Given the description of an element on the screen output the (x, y) to click on. 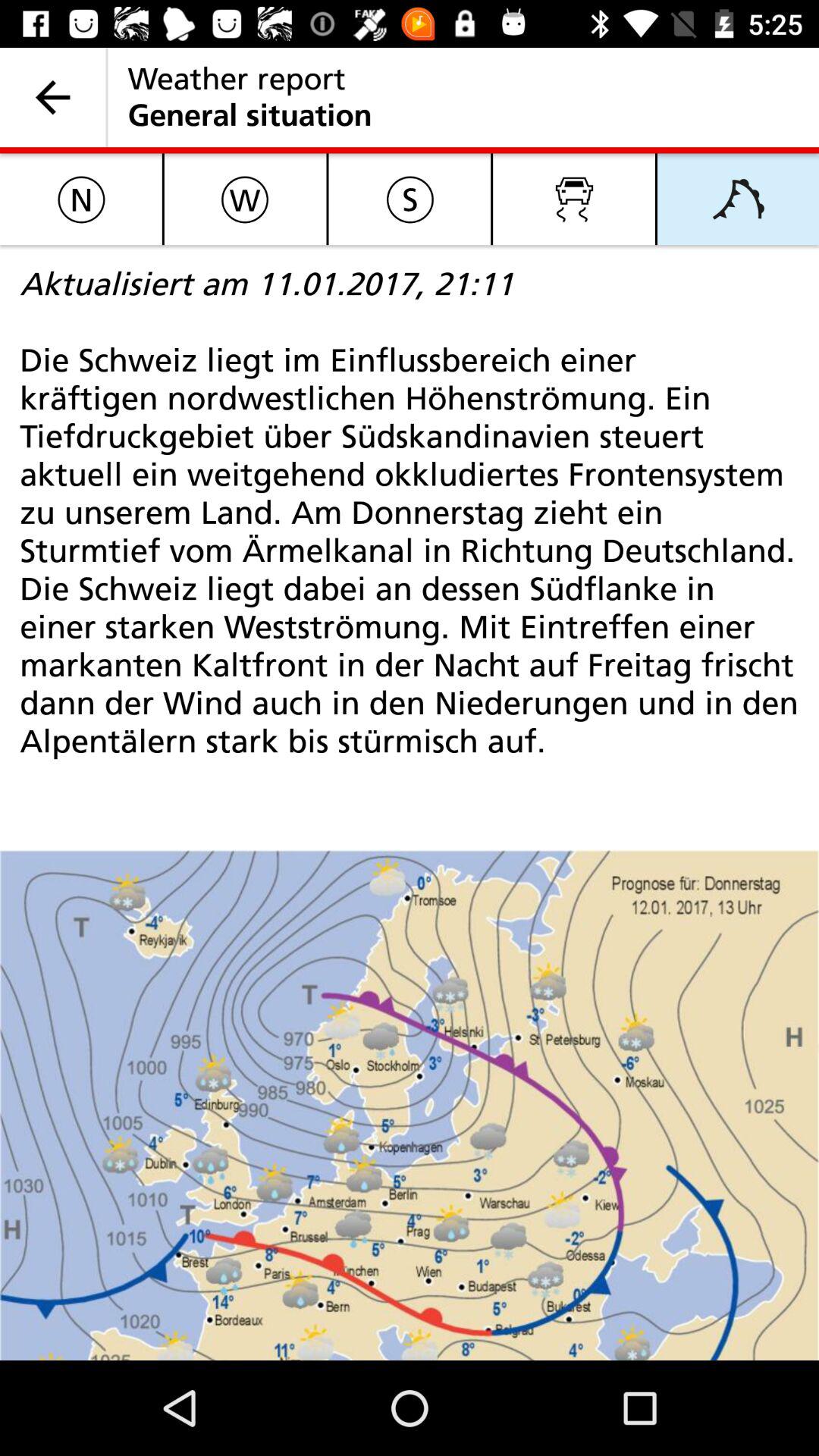
launch the item to the left of the weather report item (52, 97)
